Given the description of an element on the screen output the (x, y) to click on. 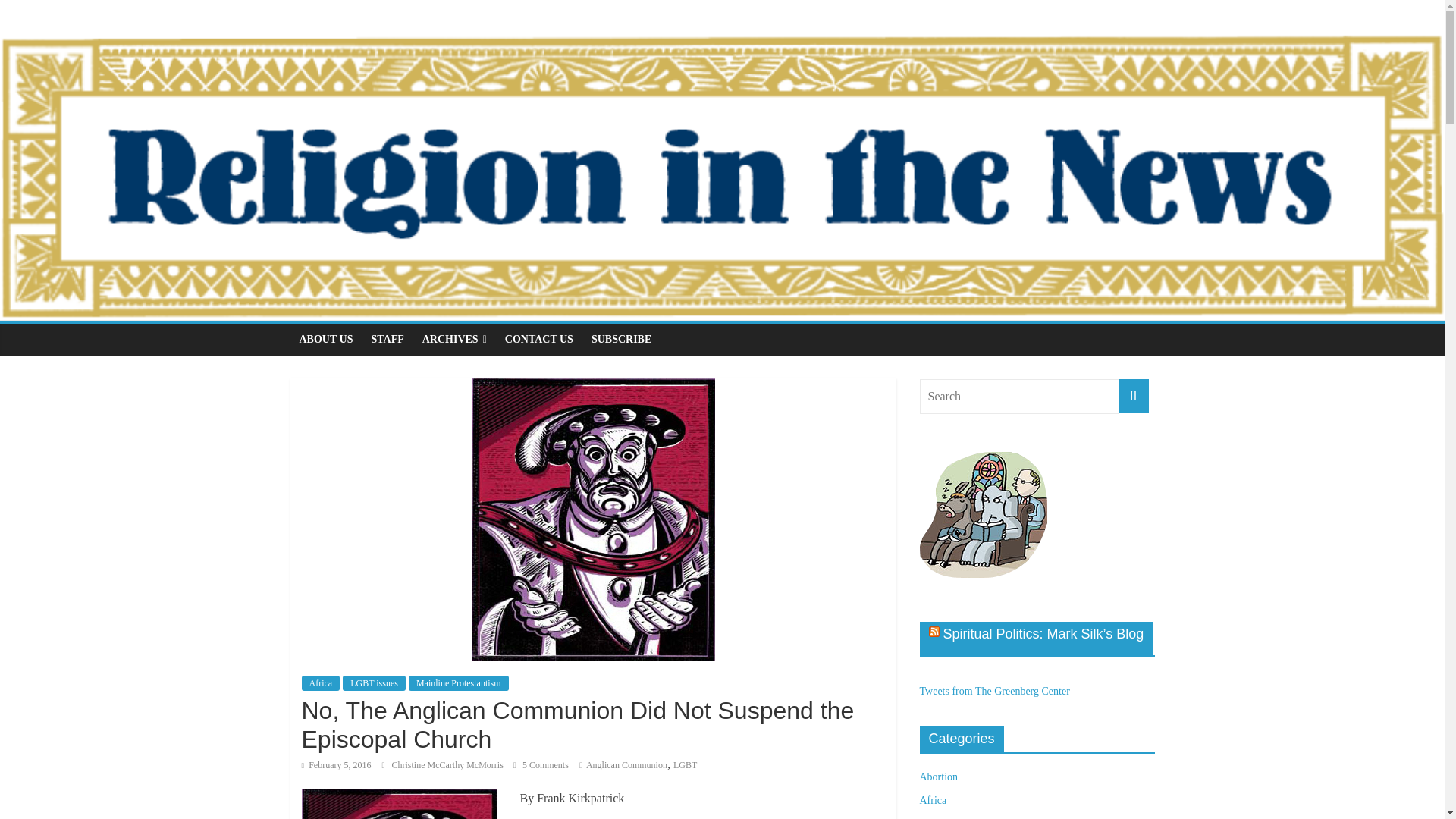
5 Comments (541, 765)
LGBT issues (374, 683)
Mainline Protestantism (458, 683)
SUBSCRIBE (621, 339)
STAFF (386, 339)
Christine McCarthy McMorris (448, 765)
5:24 pm (336, 765)
Africa (320, 683)
LGBT (684, 765)
February 5, 2016 (336, 765)
